Given the description of an element on the screen output the (x, y) to click on. 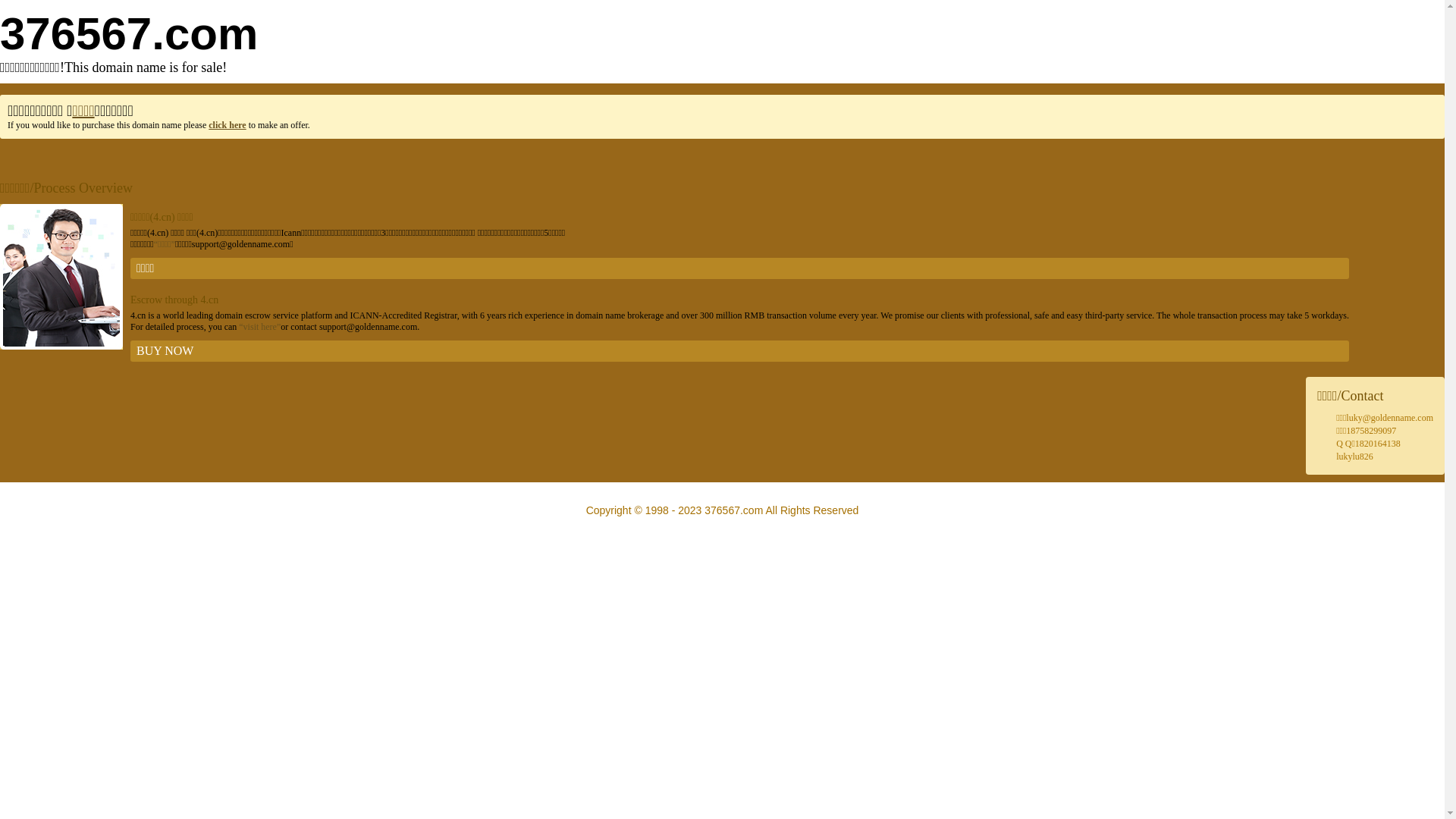
click here Element type: text (226, 124)
BUY NOW Element type: text (739, 350)
